Given the description of an element on the screen output the (x, y) to click on. 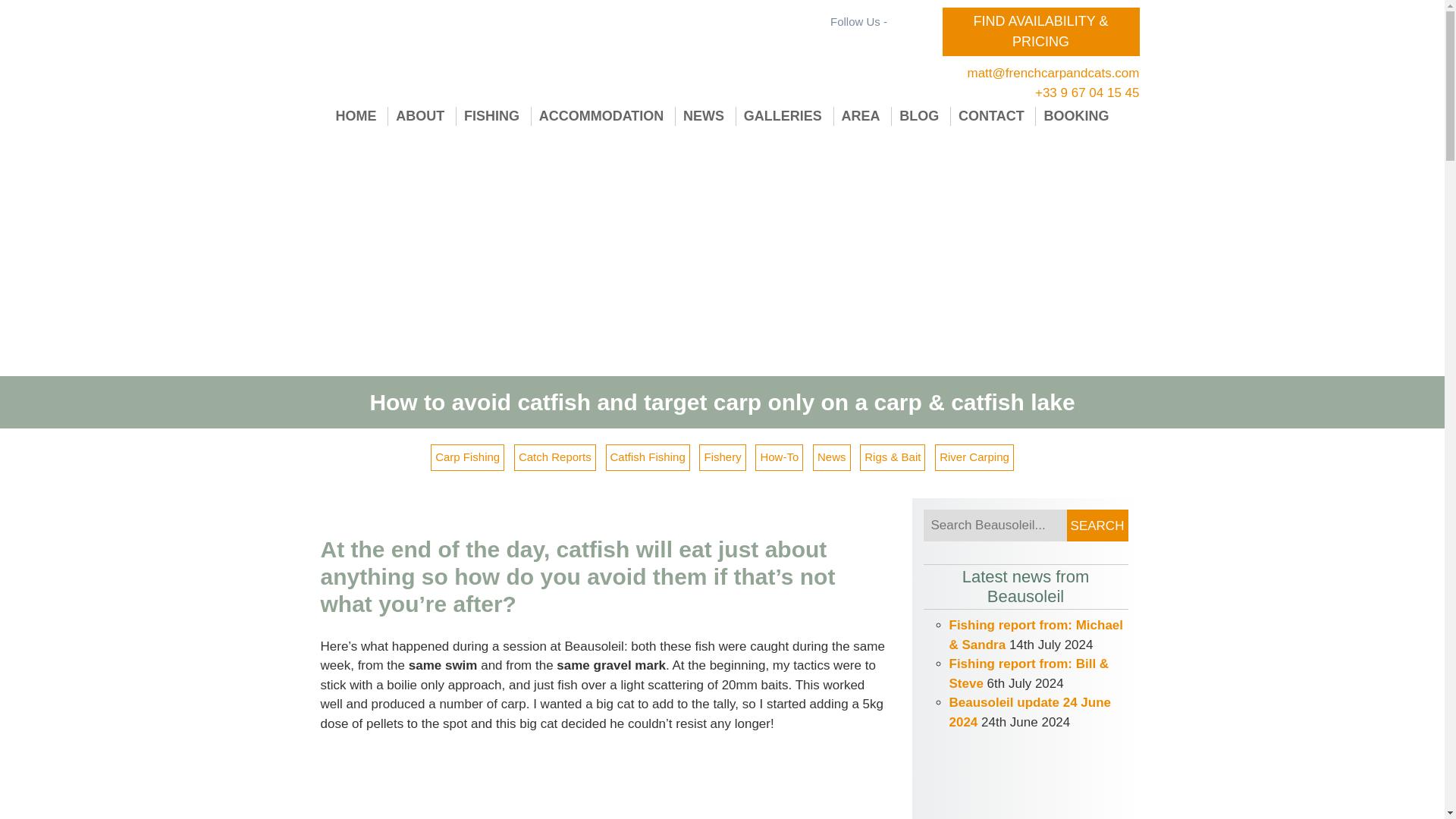
ACCOMMODATION (601, 116)
FISHING (492, 116)
HOME (355, 116)
View all posts in Carp Fishing (466, 457)
Search (1095, 525)
NEWS (703, 116)
View all posts in Catfish Fishing (647, 457)
View all posts in News (831, 457)
View all posts in River Carping (973, 457)
View all posts in How-To (779, 457)
Search (1095, 525)
View all posts in Catch Reports (554, 457)
View all posts in Fishery (721, 457)
GALLERIES (782, 116)
ABOUT (419, 116)
